Given the description of an element on the screen output the (x, y) to click on. 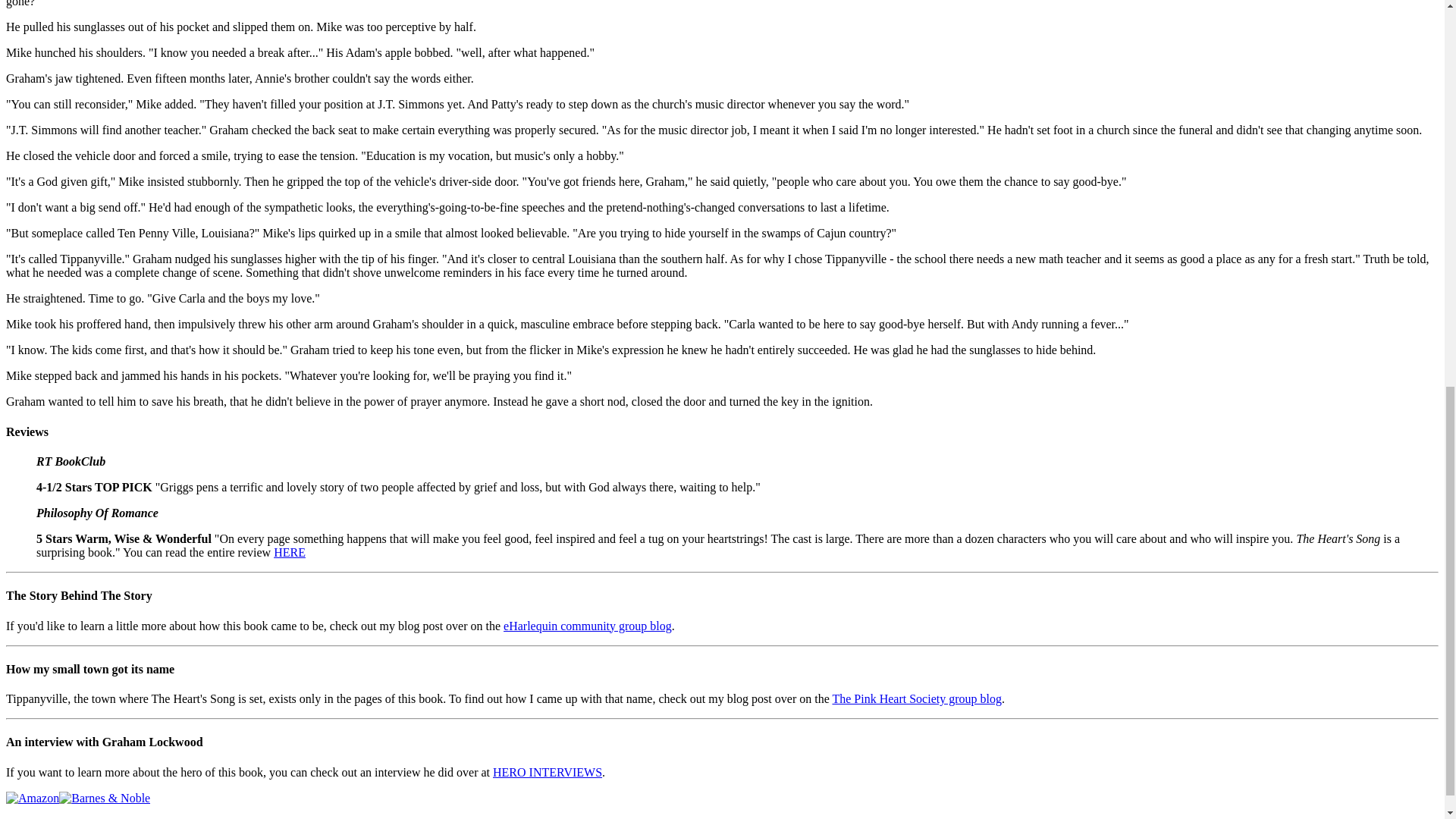
HERE (289, 552)
The Pink Heart Society group blog (916, 698)
eHarlequin community group blog (587, 625)
HERO INTERVIEWS (547, 771)
